Given the description of an element on the screen output the (x, y) to click on. 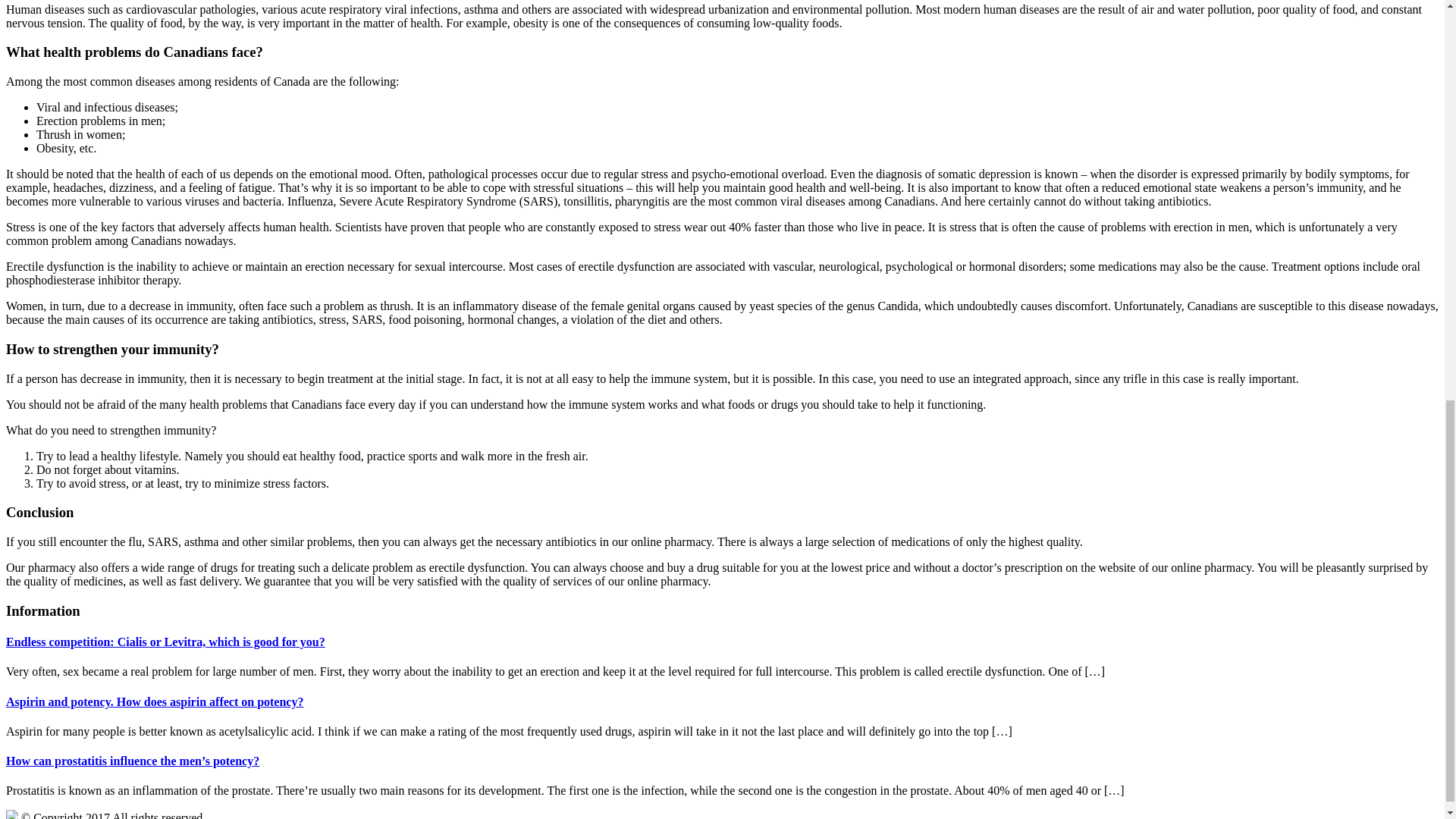
Aspirin and potency. How does aspirin affect on potency? (153, 701)
